Given the description of an element on the screen output the (x, y) to click on. 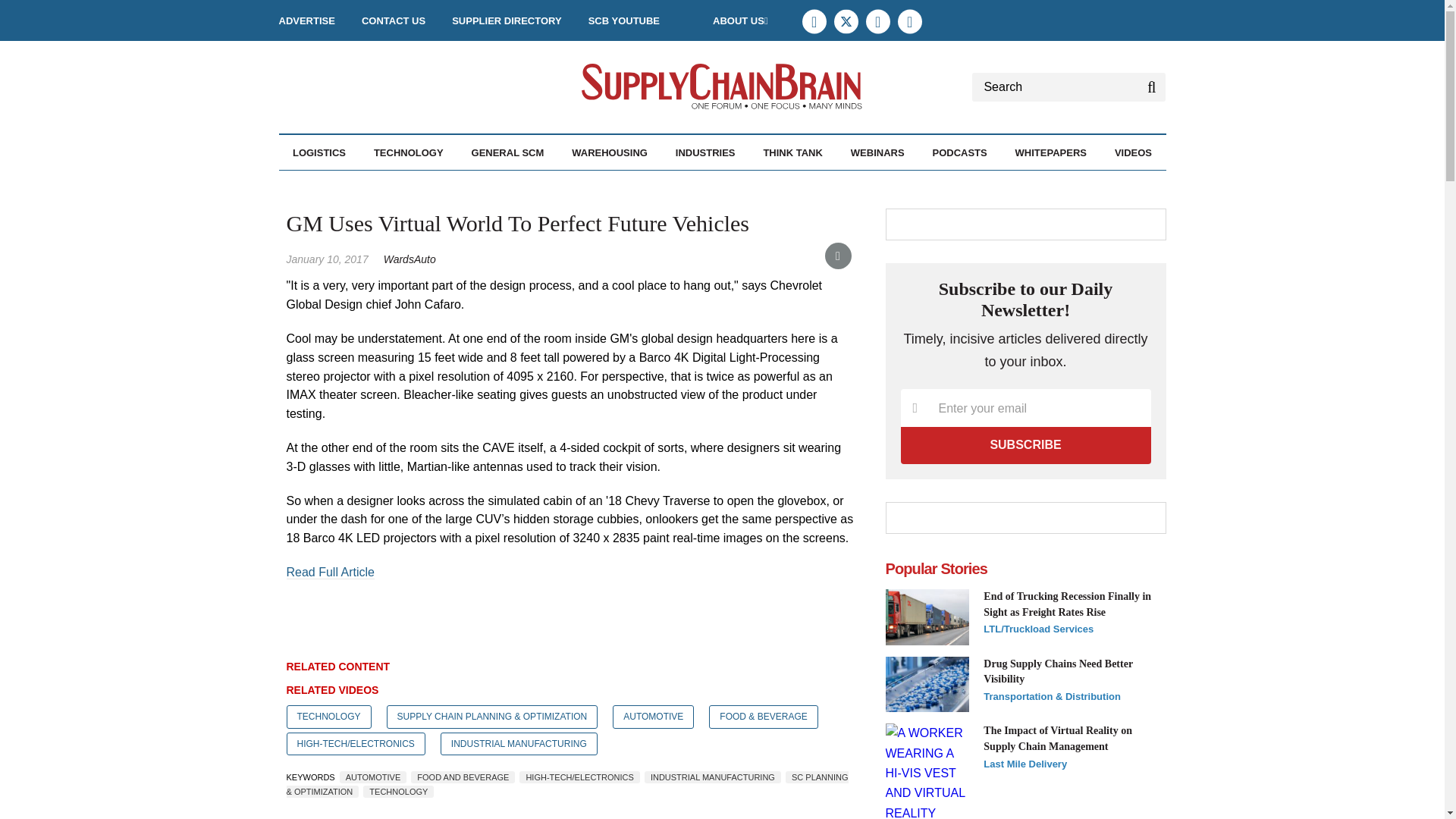
SCB YOUTUBE (623, 20)
ABOUT US (740, 20)
Logistics Outsourcing (404, 184)
Facility Location Planning (381, 193)
ADVERTISE (306, 20)
TECHNOLOGY (409, 152)
All Logistics (375, 184)
Global Logistics (398, 184)
Ocean Transportation (407, 184)
Service Parts Management (413, 193)
Global Gateways (395, 184)
All Technology (449, 184)
Reverse Logistics (411, 184)
SUPPLIER DIRECTORY (505, 20)
